Given the description of an element on the screen output the (x, y) to click on. 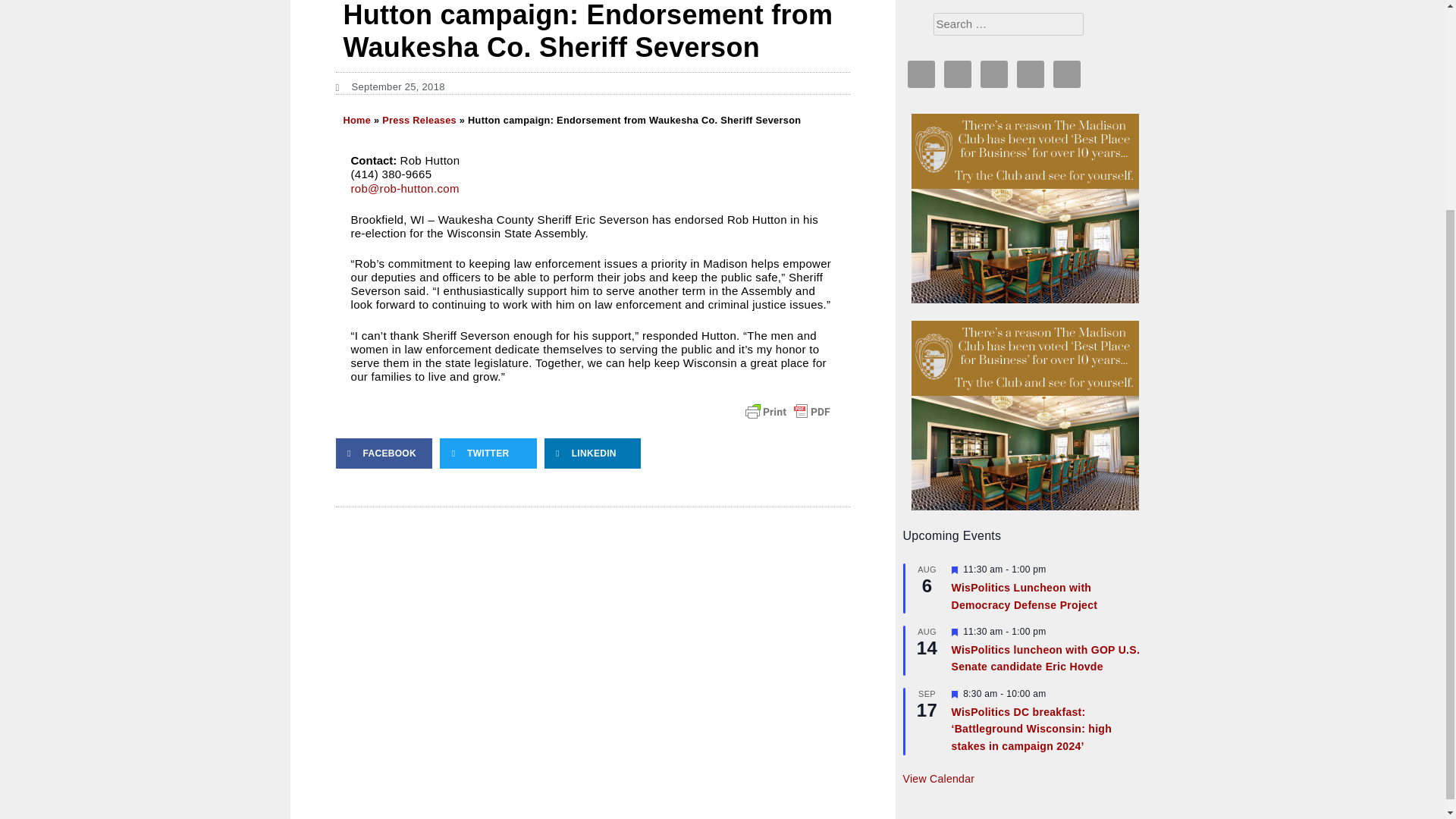
WisPolitics Luncheon with Democracy Defense Project (1023, 596)
View more events. (938, 779)
